Given the description of an element on the screen output the (x, y) to click on. 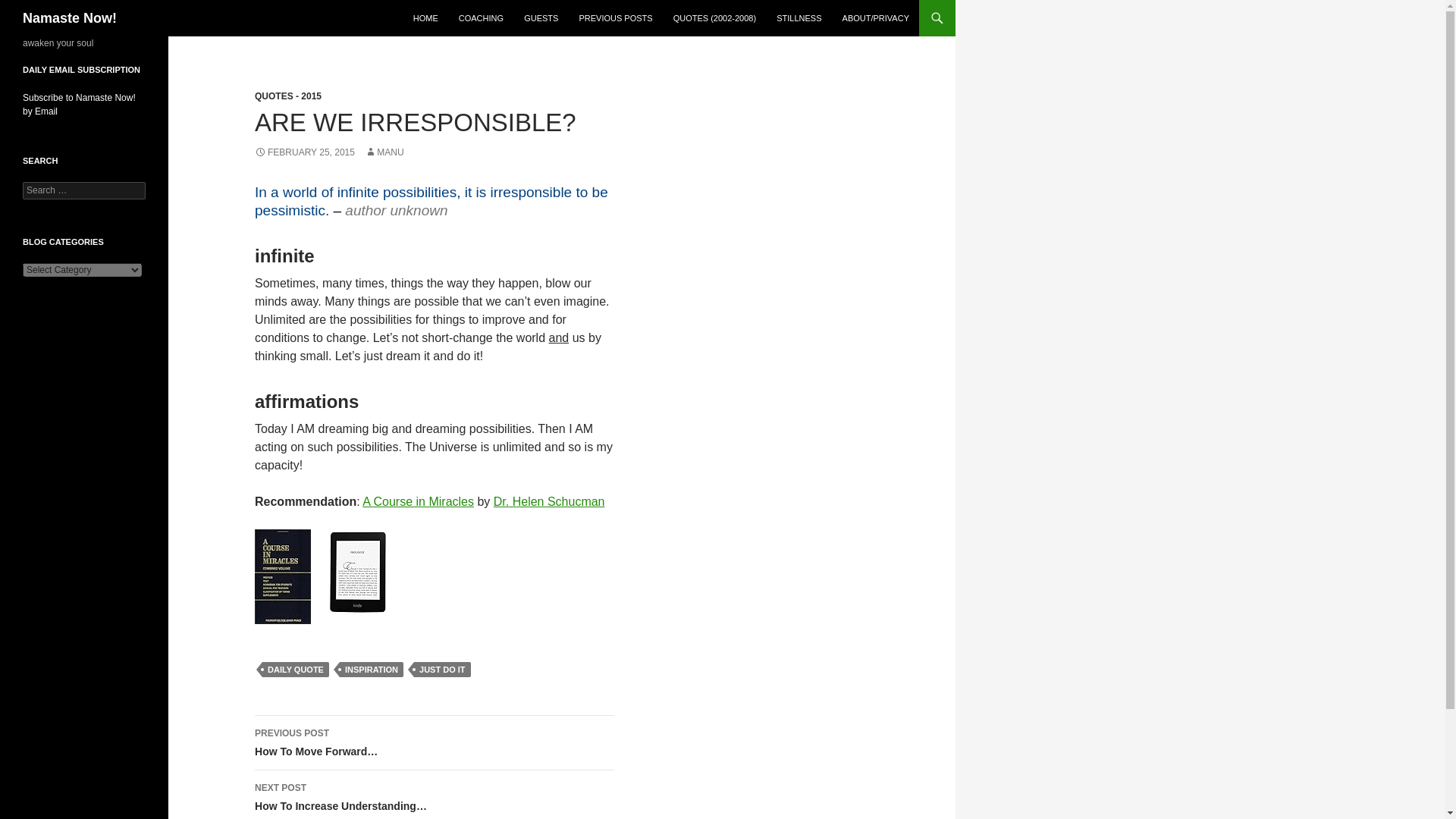
Subscribe to Namaste Now! by Email (79, 104)
GUESTS (541, 18)
STILLNESS (798, 18)
Namaste Now! (69, 18)
DAILY QUOTE (295, 669)
PREVIOUS POSTS (615, 18)
HOME (425, 18)
A Course in Miracles (418, 501)
QUOTES - 2015 (287, 95)
FEBRUARY 25, 2015 (304, 152)
